Given the description of an element on the screen output the (x, y) to click on. 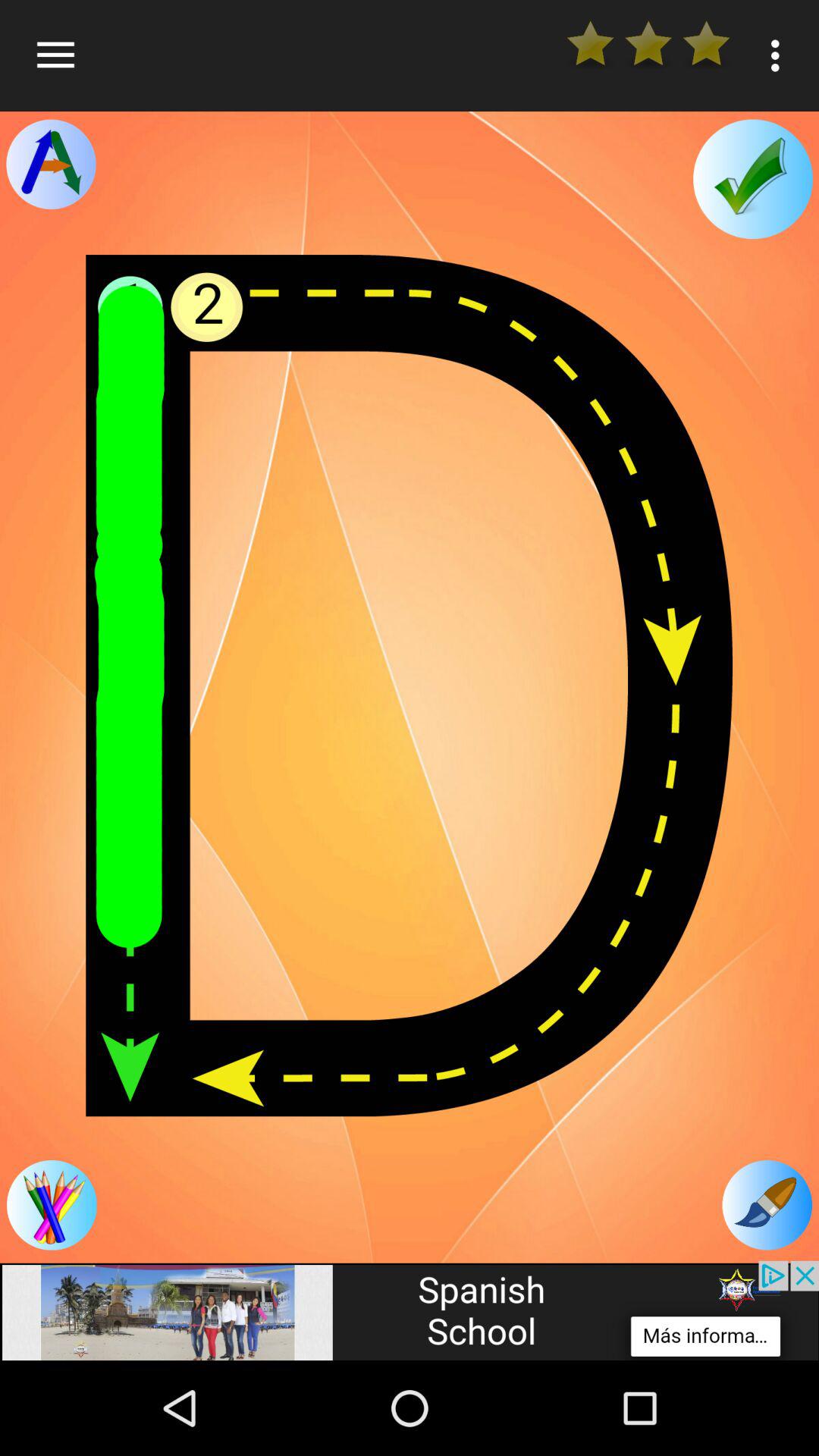
select the entire article (409, 685)
